Given the description of an element on the screen output the (x, y) to click on. 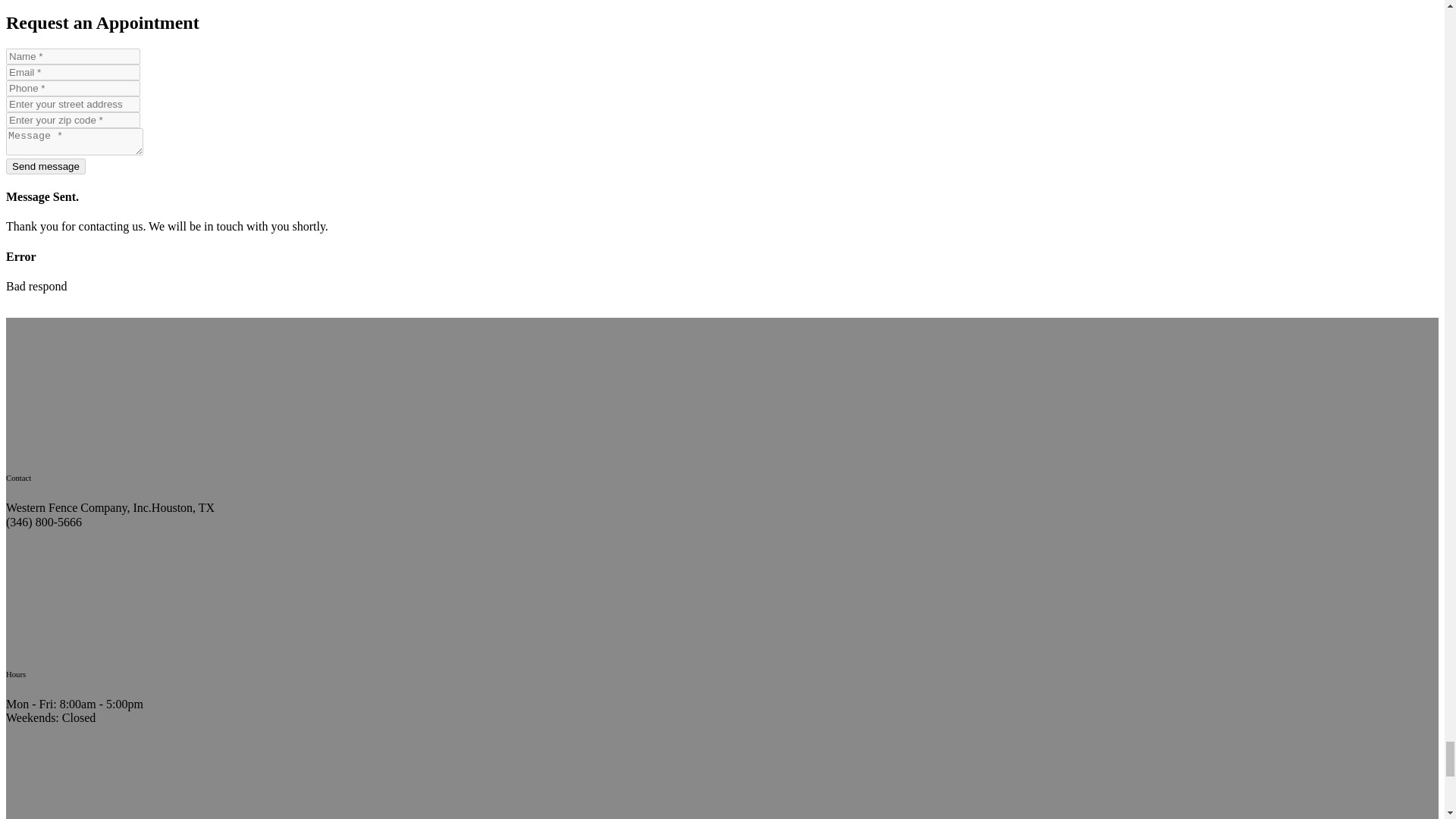
Send message (45, 166)
